Given the description of an element on the screen output the (x, y) to click on. 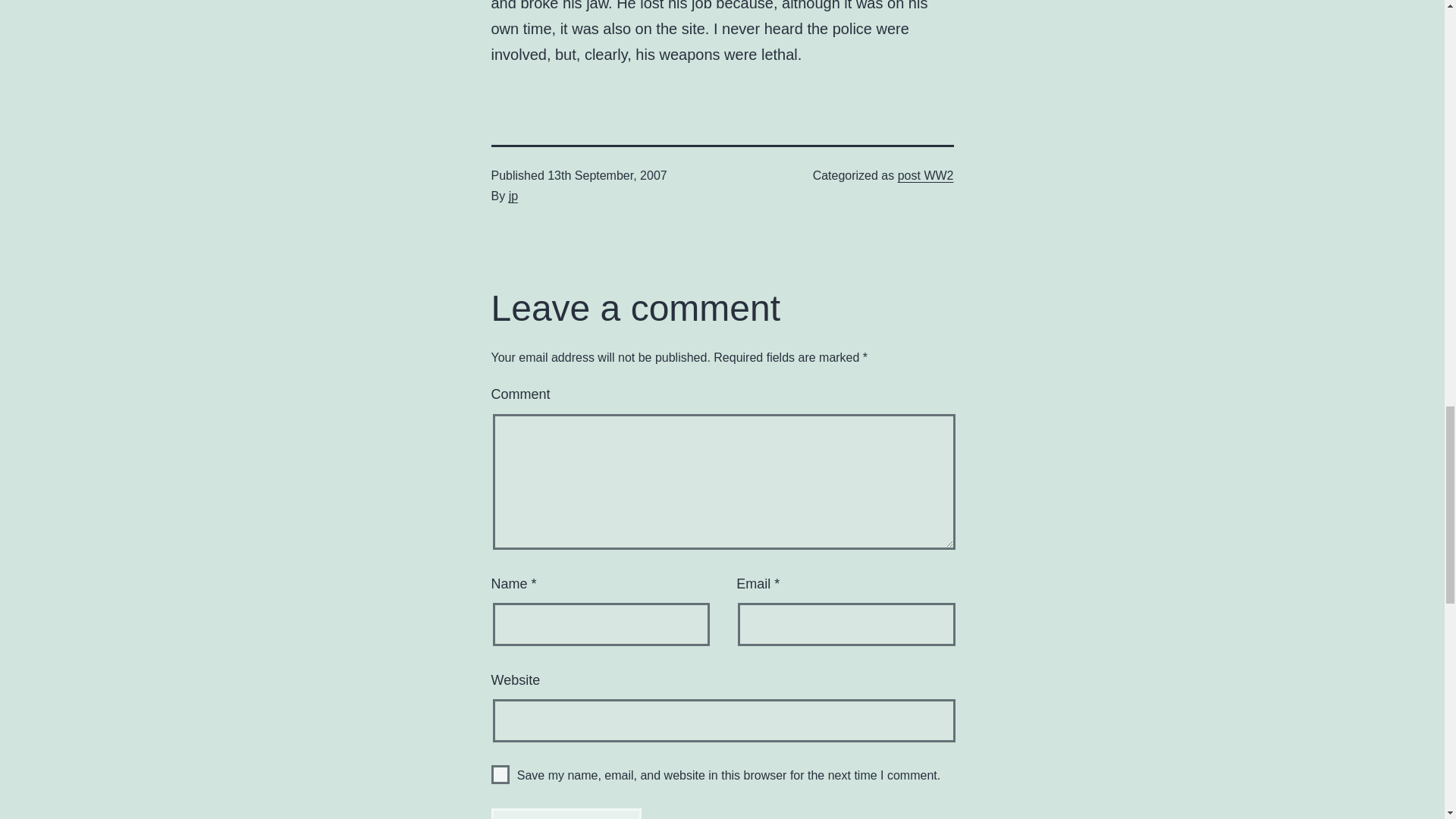
yes (500, 773)
Post Comment (567, 813)
Post Comment (567, 813)
post WW2 (925, 174)
